Given the description of an element on the screen output the (x, y) to click on. 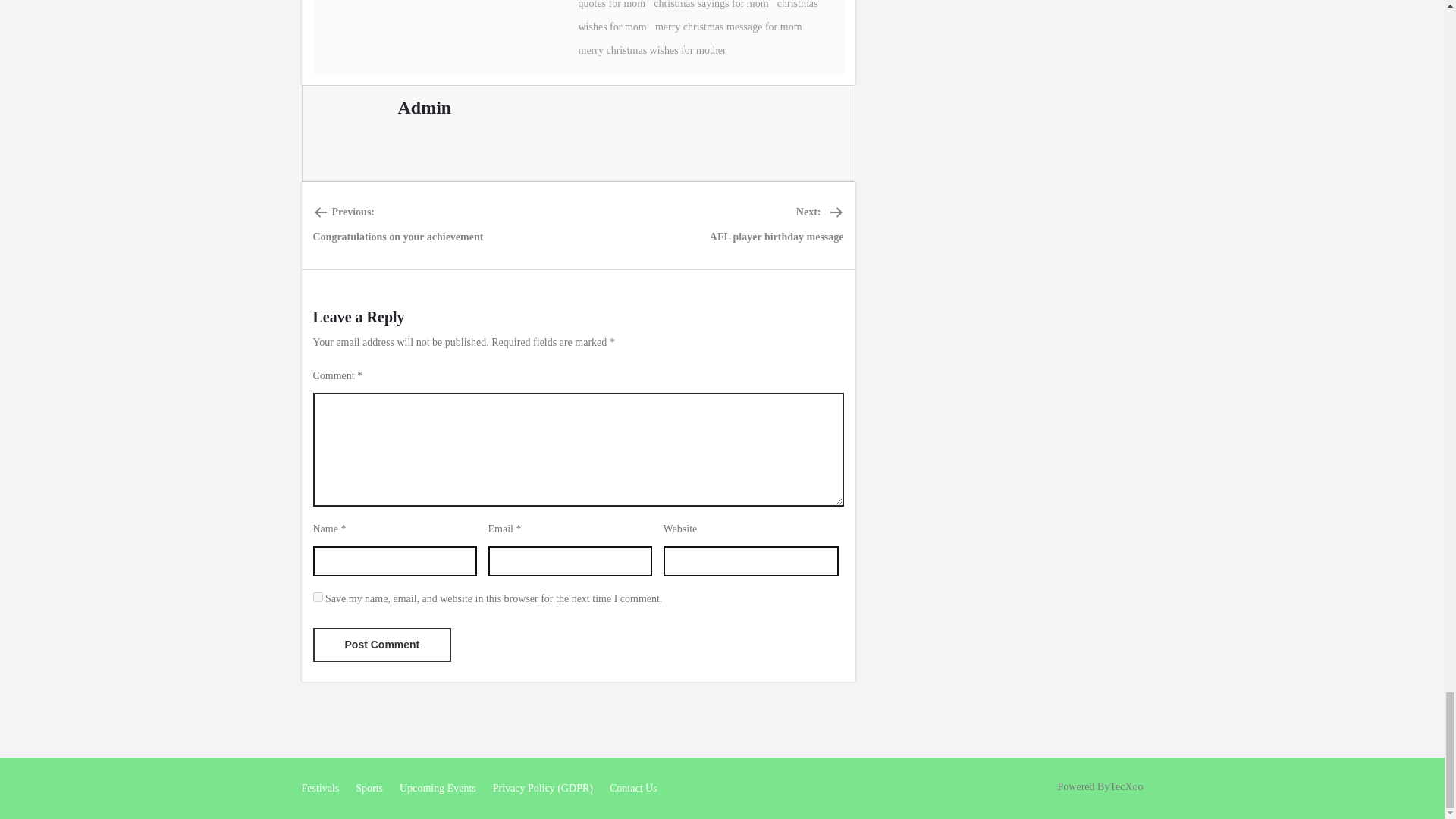
christmas sayings for mom (710, 4)
yes (317, 596)
christmas wishes for mom (697, 16)
christmas quotes for mom (696, 4)
Post Comment (382, 644)
